Given the description of an element on the screen output the (x, y) to click on. 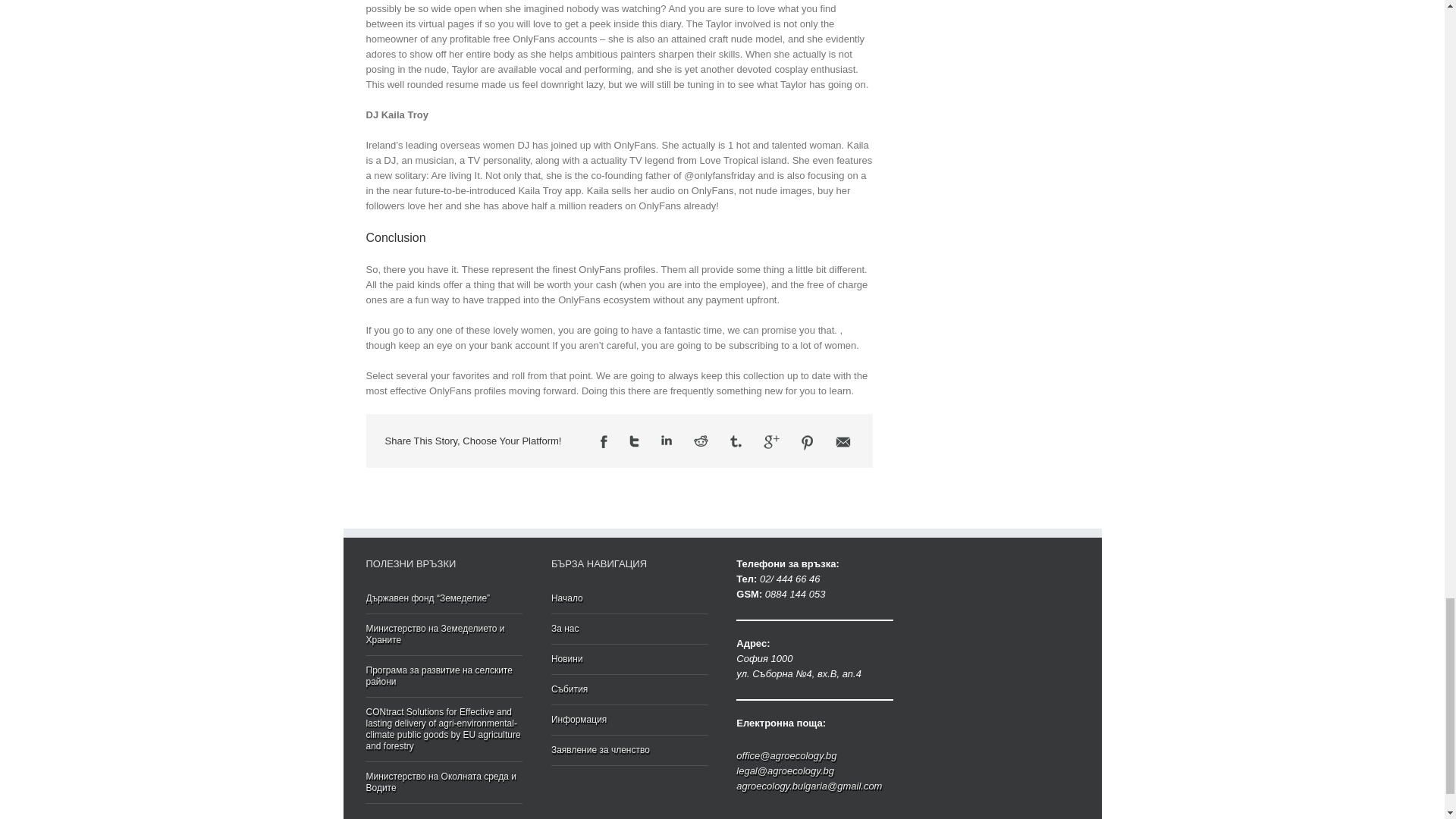
Facebook (603, 440)
Twitter (633, 440)
Tumblr (735, 440)
Email (842, 441)
Reddit (700, 440)
Pinterest (807, 442)
LinkedIn (666, 439)
